Given the description of an element on the screen output the (x, y) to click on. 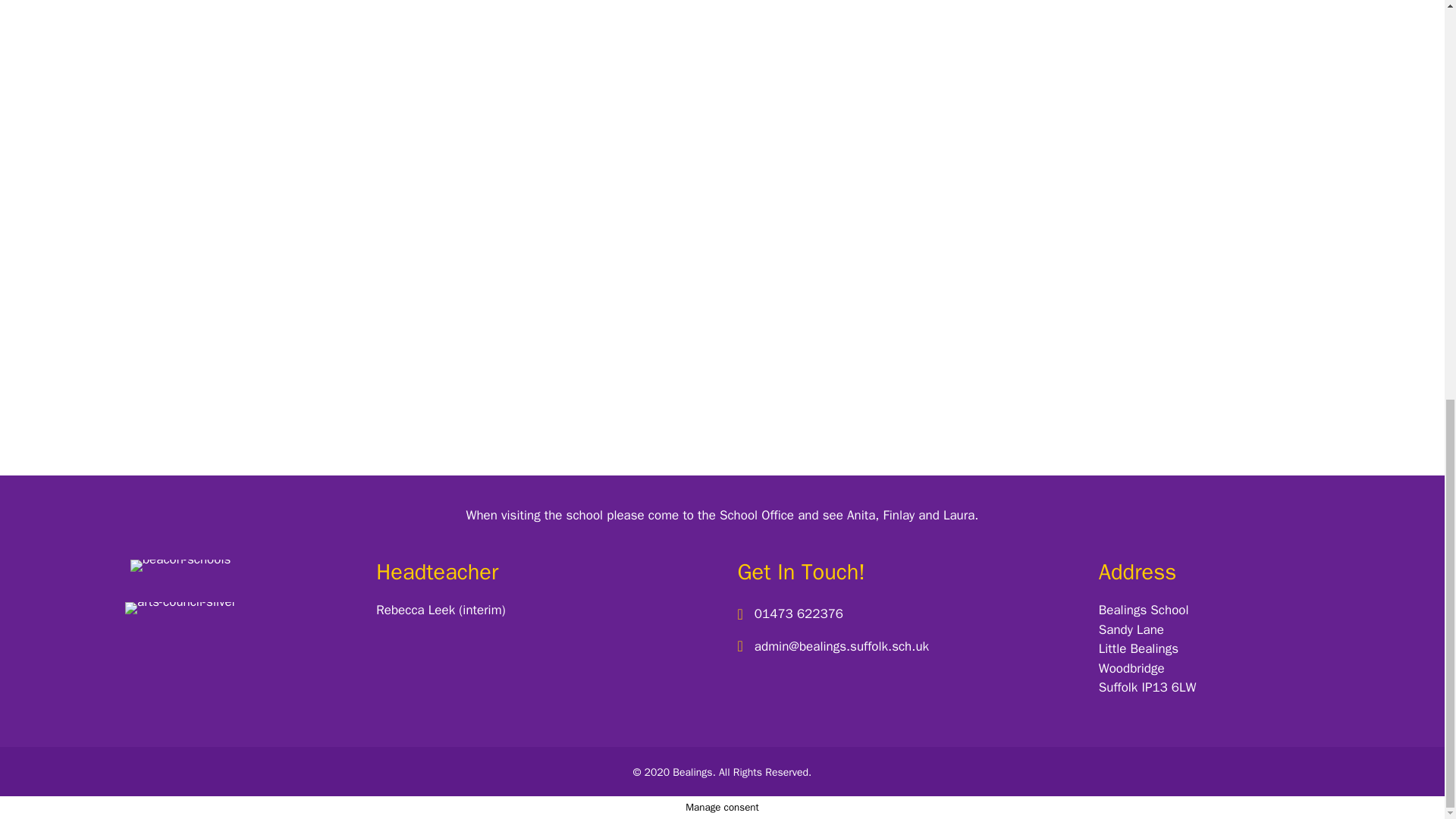
arts-council-silver (180, 607)
Scroll back to top (1406, 759)
beacon-schools (180, 565)
